Given the description of an element on the screen output the (x, y) to click on. 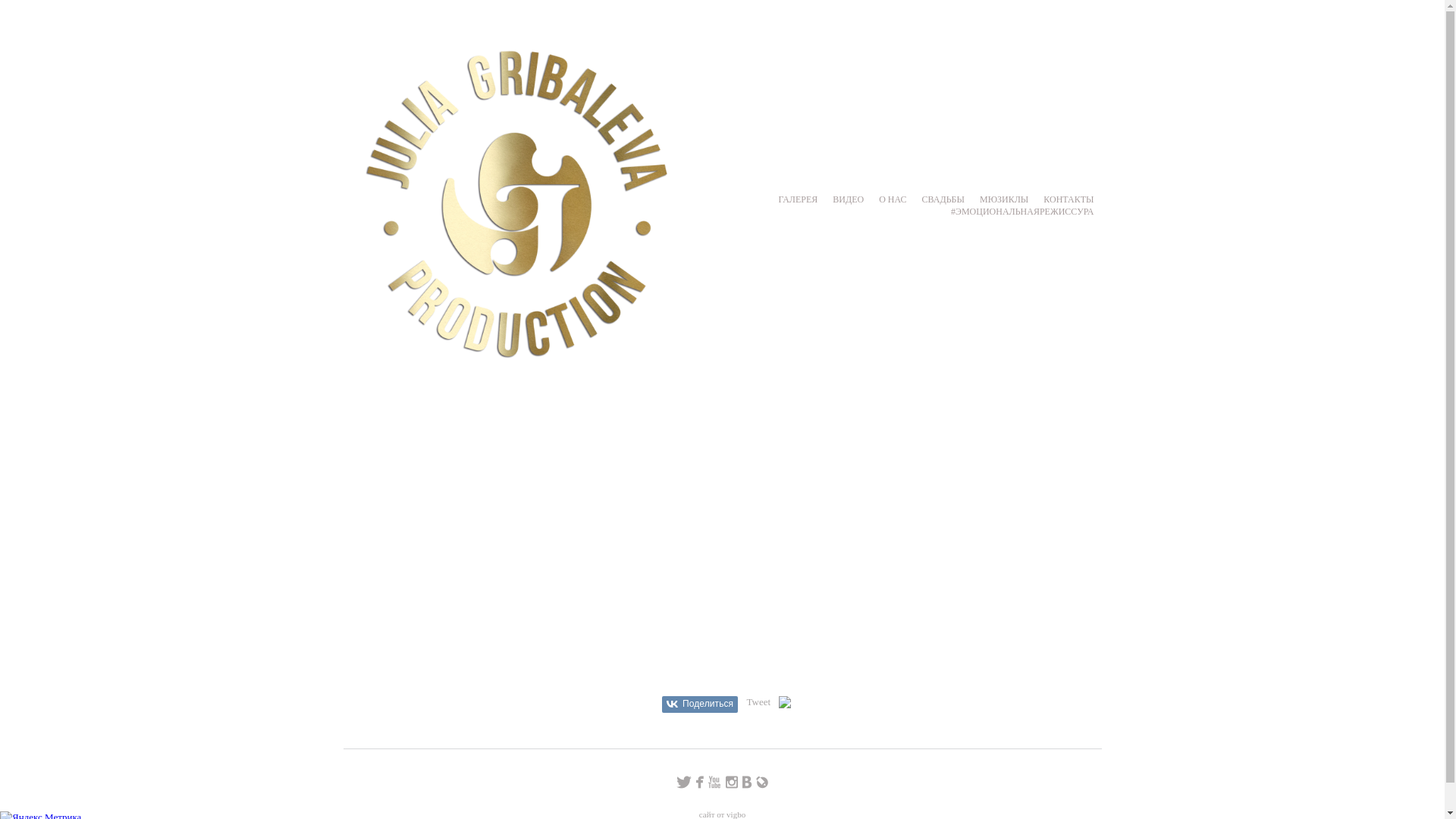
Julia Gribaleva Production Element type: hover (516, 203)
Tweet Element type: text (758, 701)
